Given the description of an element on the screen output the (x, y) to click on. 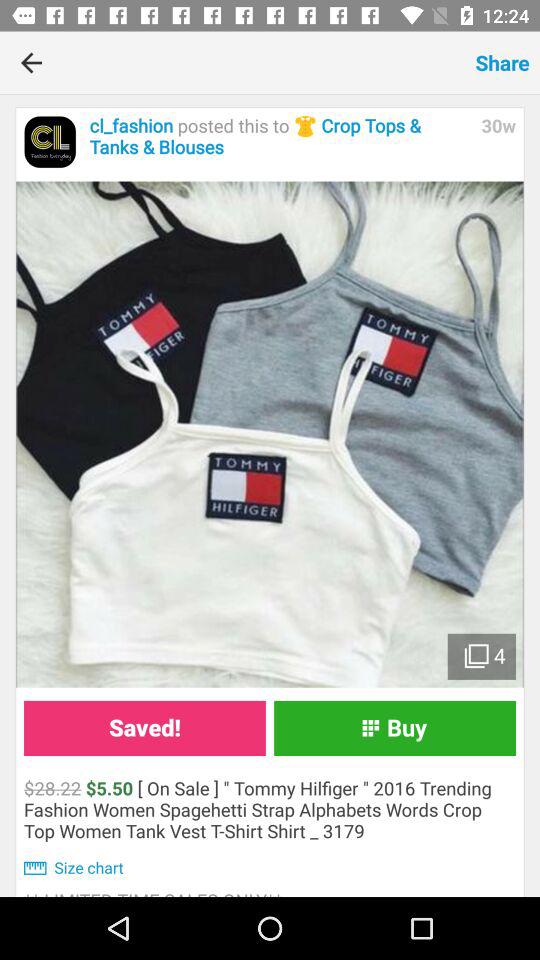
press the item at the center (269, 434)
